Given the description of an element on the screen output the (x, y) to click on. 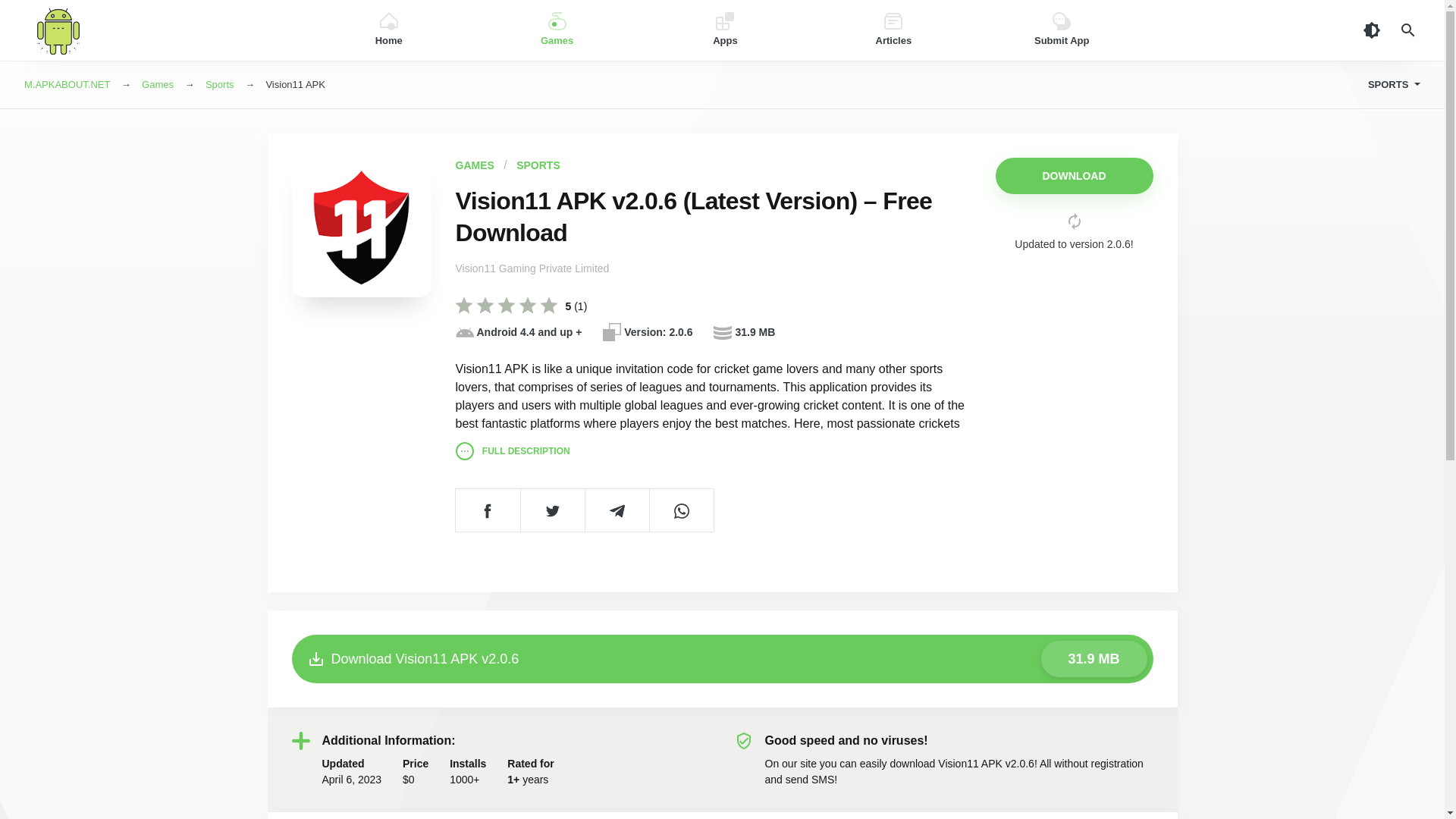
Share on Telegram (615, 509)
Share on Facebook (486, 509)
APK ABOUT (154, 30)
Apps (725, 30)
Tweet this (552, 509)
Share on Whatsapp (681, 509)
Home (388, 30)
Games (557, 30)
APK ABOUT (154, 30)
